Given the description of an element on the screen output the (x, y) to click on. 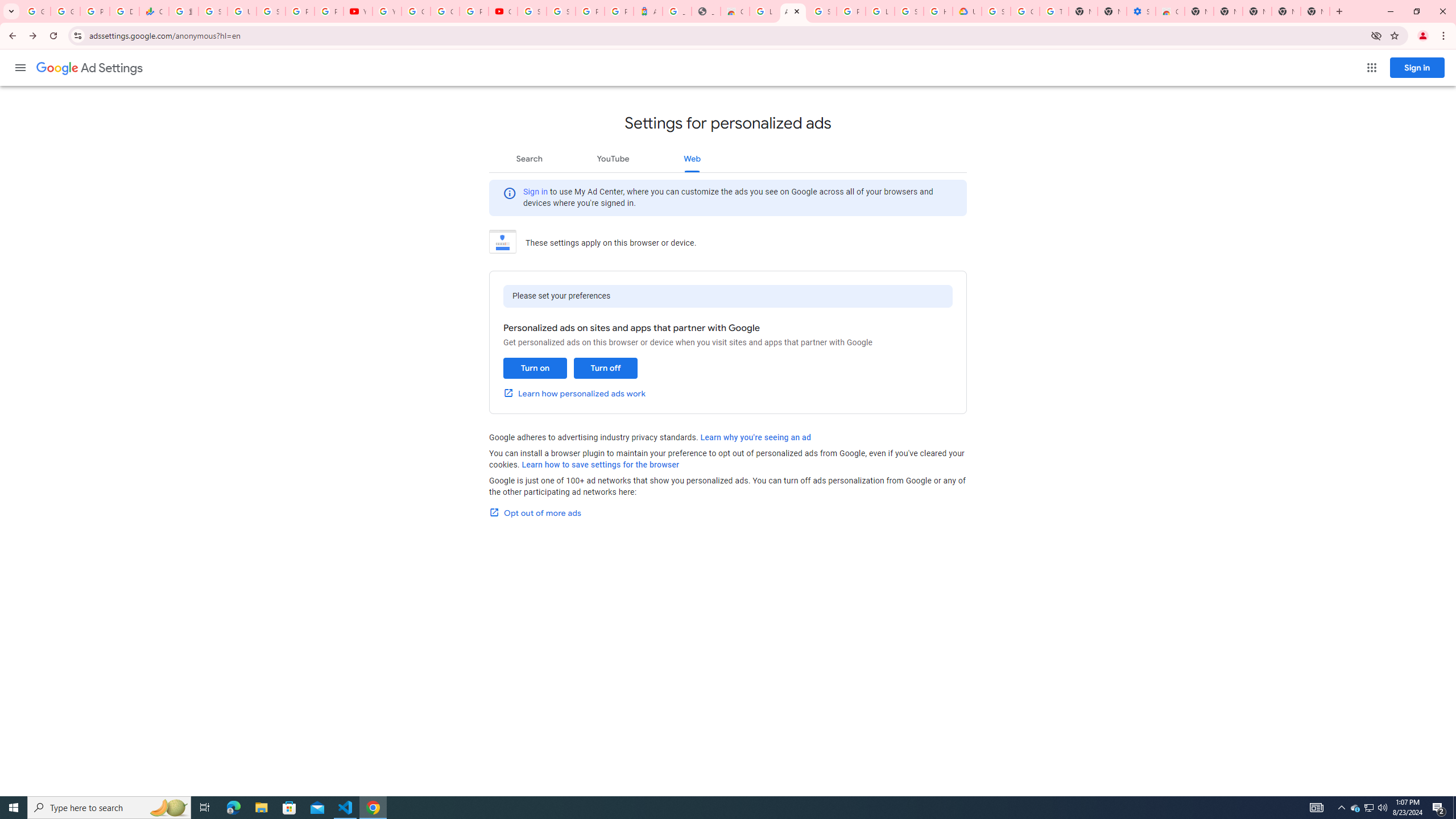
Google Account Help (1025, 11)
New Tab (1198, 11)
Sign in - Google Accounts (821, 11)
Learn how to save settings for the browser (600, 465)
YouTube (357, 11)
Chrome Web Store - Household (734, 11)
